Given the description of an element on the screen output the (x, y) to click on. 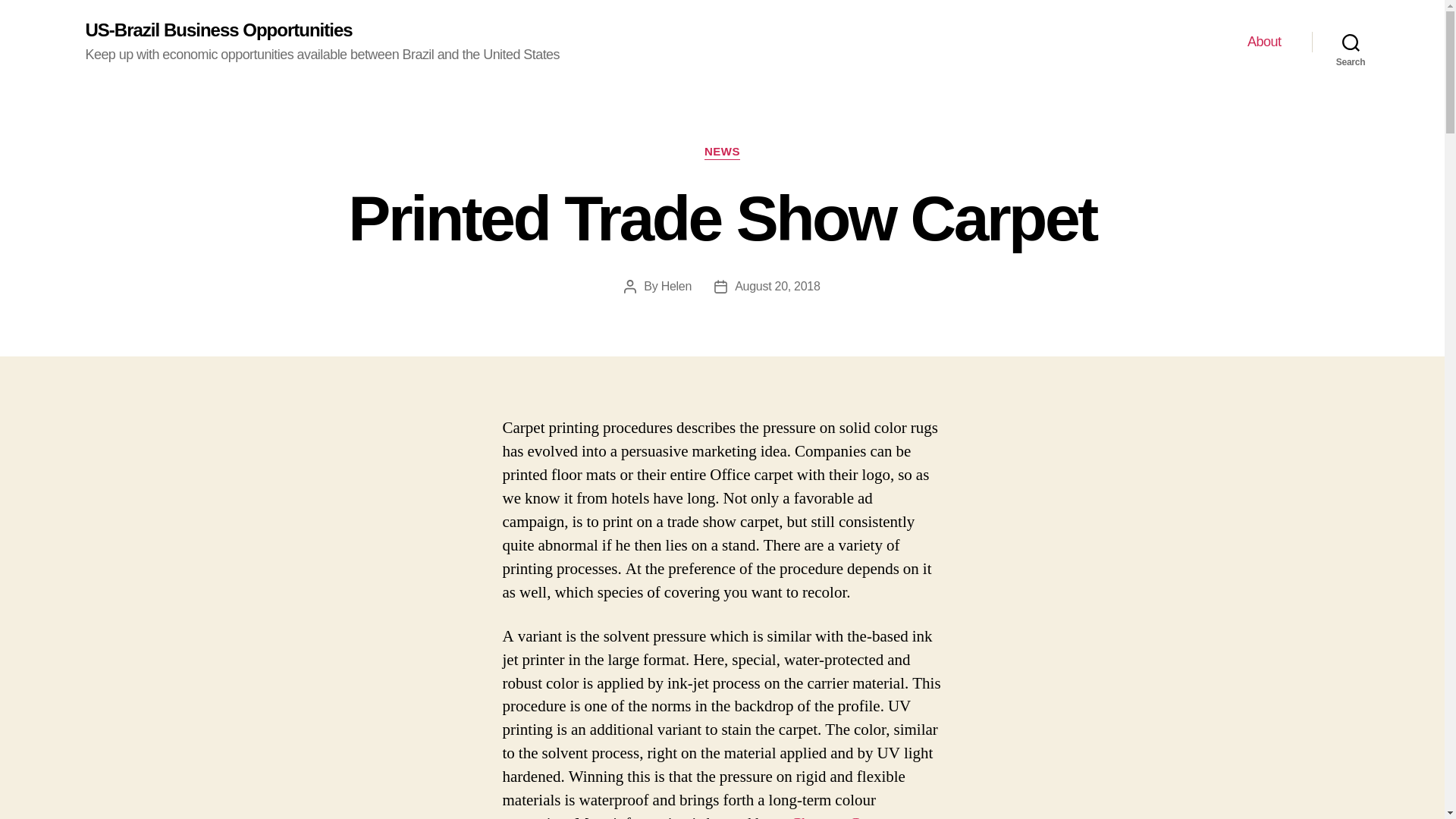
About (1264, 42)
US-Brazil Business Opportunities (218, 30)
Helen (676, 286)
Search (1350, 41)
August 20, 2018 (778, 286)
Chevron Corp (835, 816)
NEWS (721, 151)
